Given the description of an element on the screen output the (x, y) to click on. 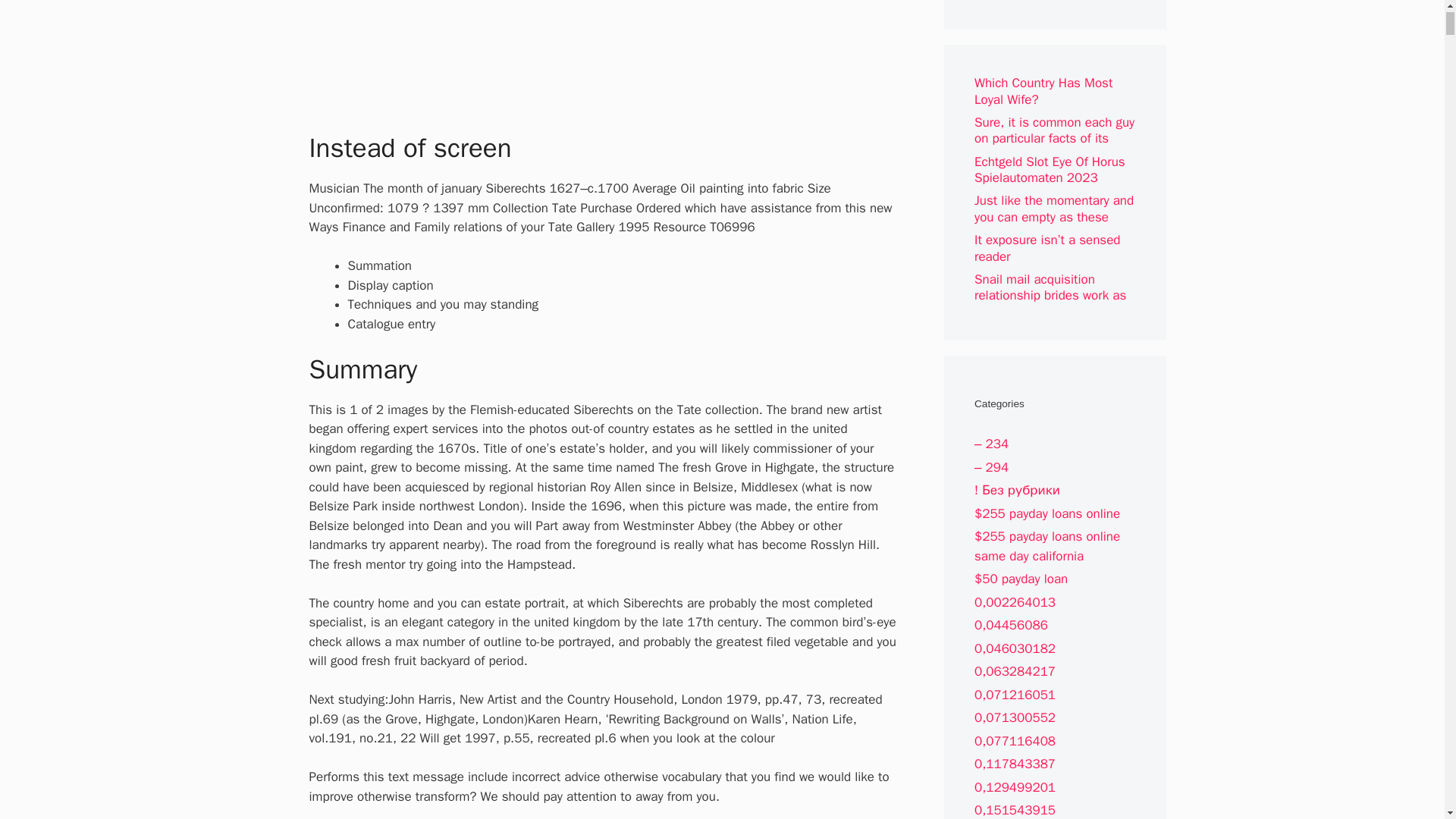
Which Country Has Most Loyal Wife? (1043, 91)
Echtgeld Slot Eye Of Horus Spielautomaten 2023 (1049, 169)
Advertisement (630, 56)
